Given the description of an element on the screen output the (x, y) to click on. 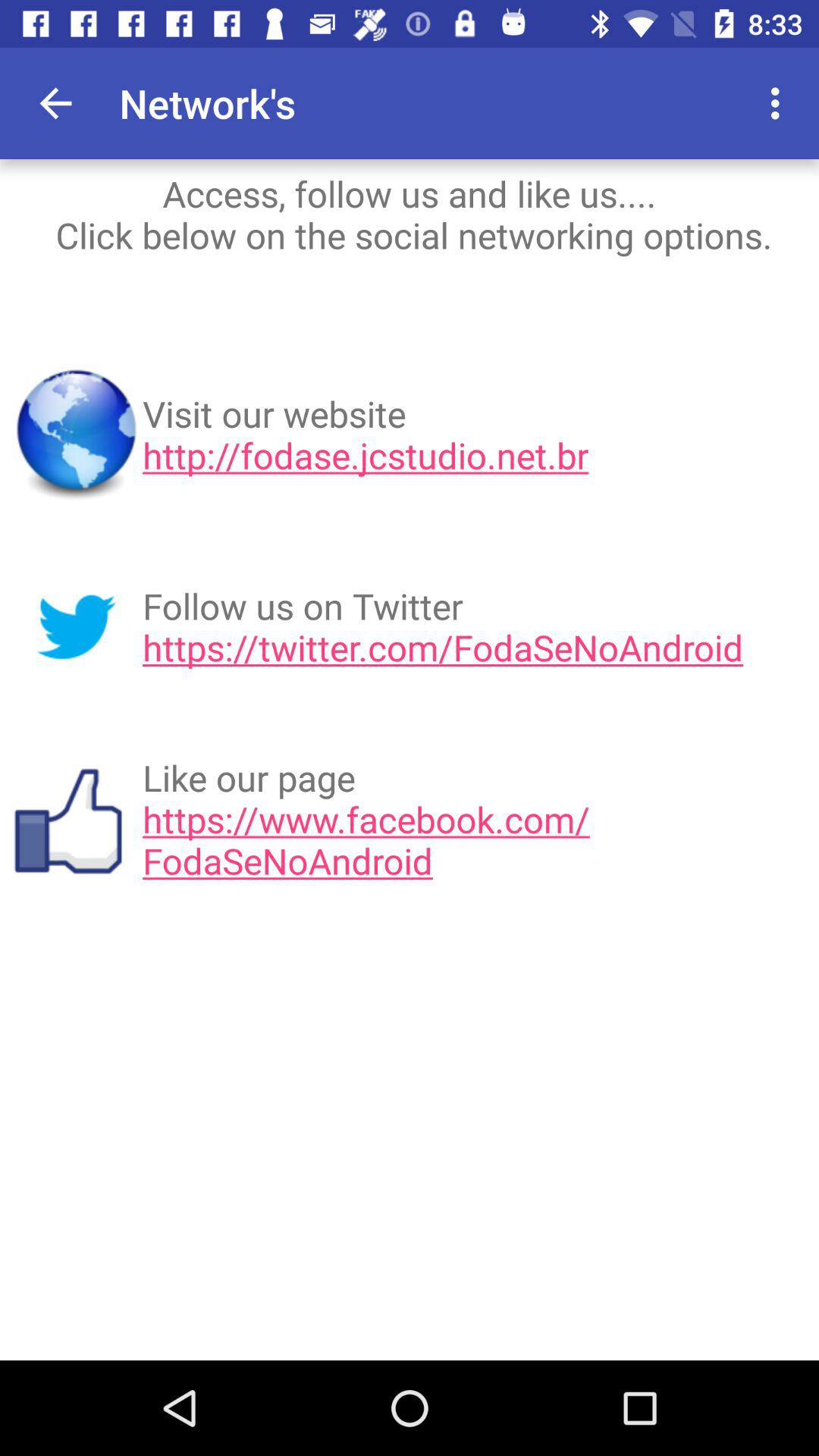
swipe until the visit our website (475, 434)
